Given the description of an element on the screen output the (x, y) to click on. 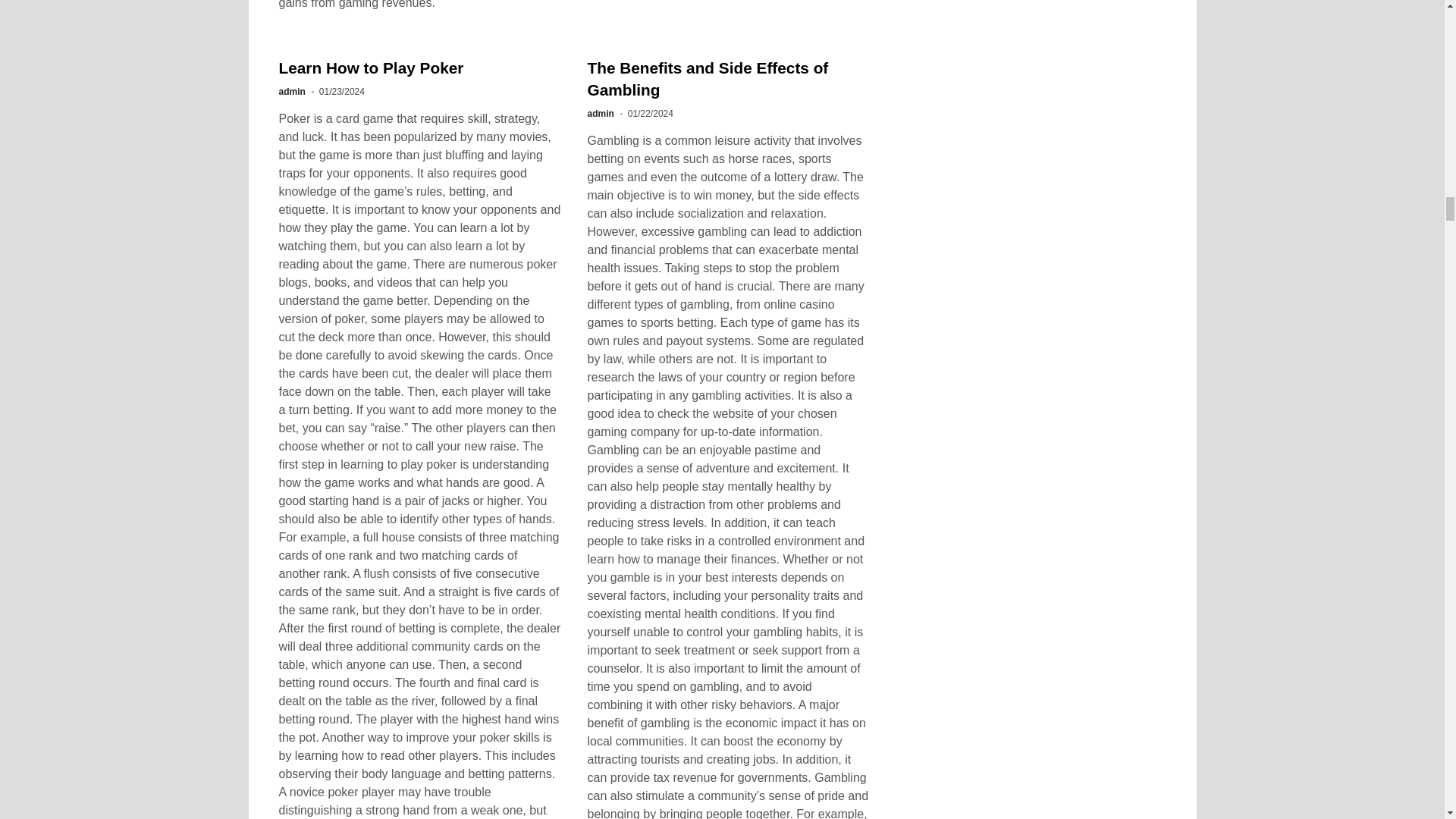
The Benefits and Side Effects of Gambling (707, 78)
admin (599, 113)
admin (292, 91)
Learn How to Play Poker (371, 67)
